Given the description of an element on the screen output the (x, y) to click on. 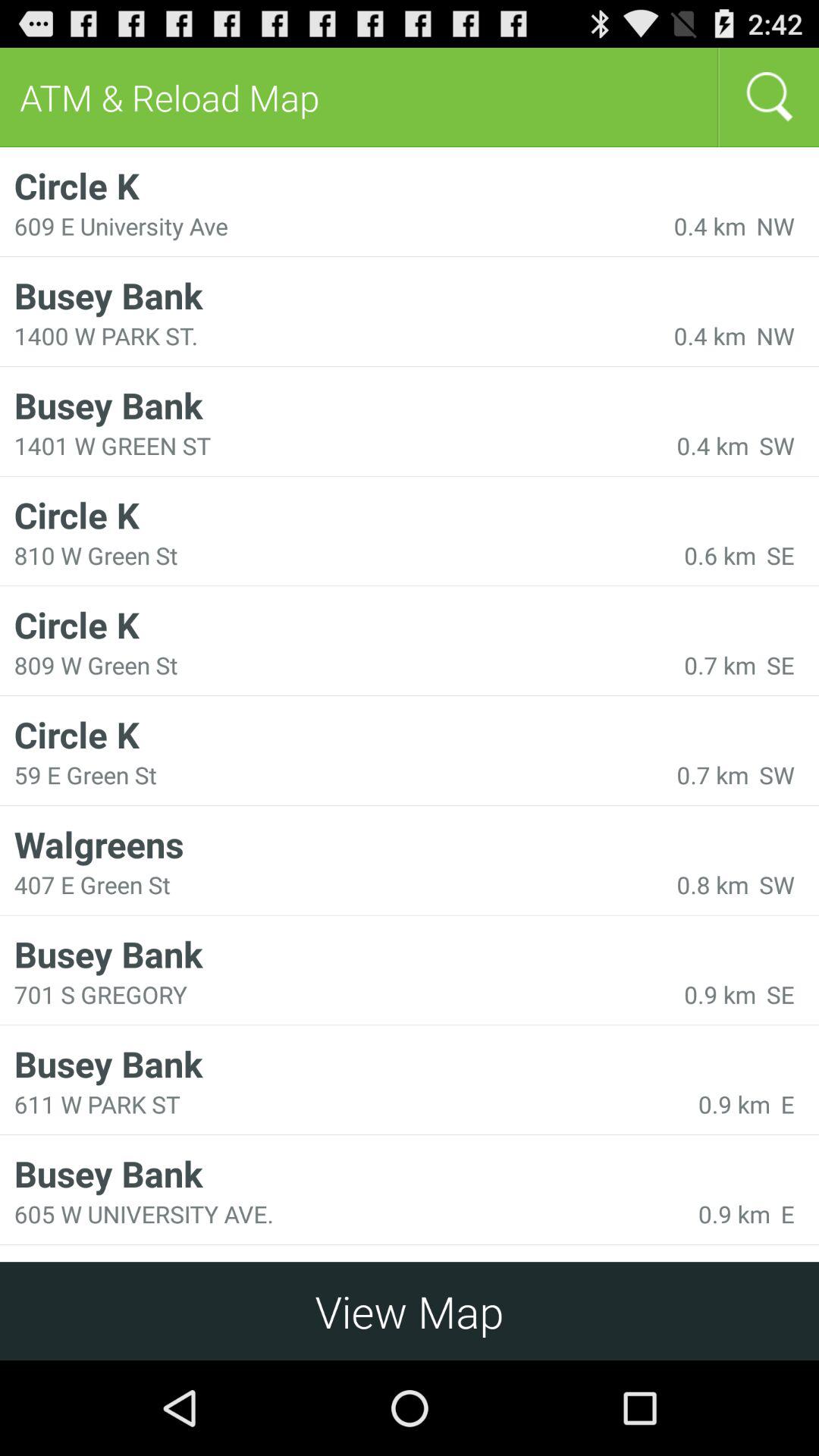
click on the search icon on the right most top corner of the web page (768, 97)
